Given the description of an element on the screen output the (x, y) to click on. 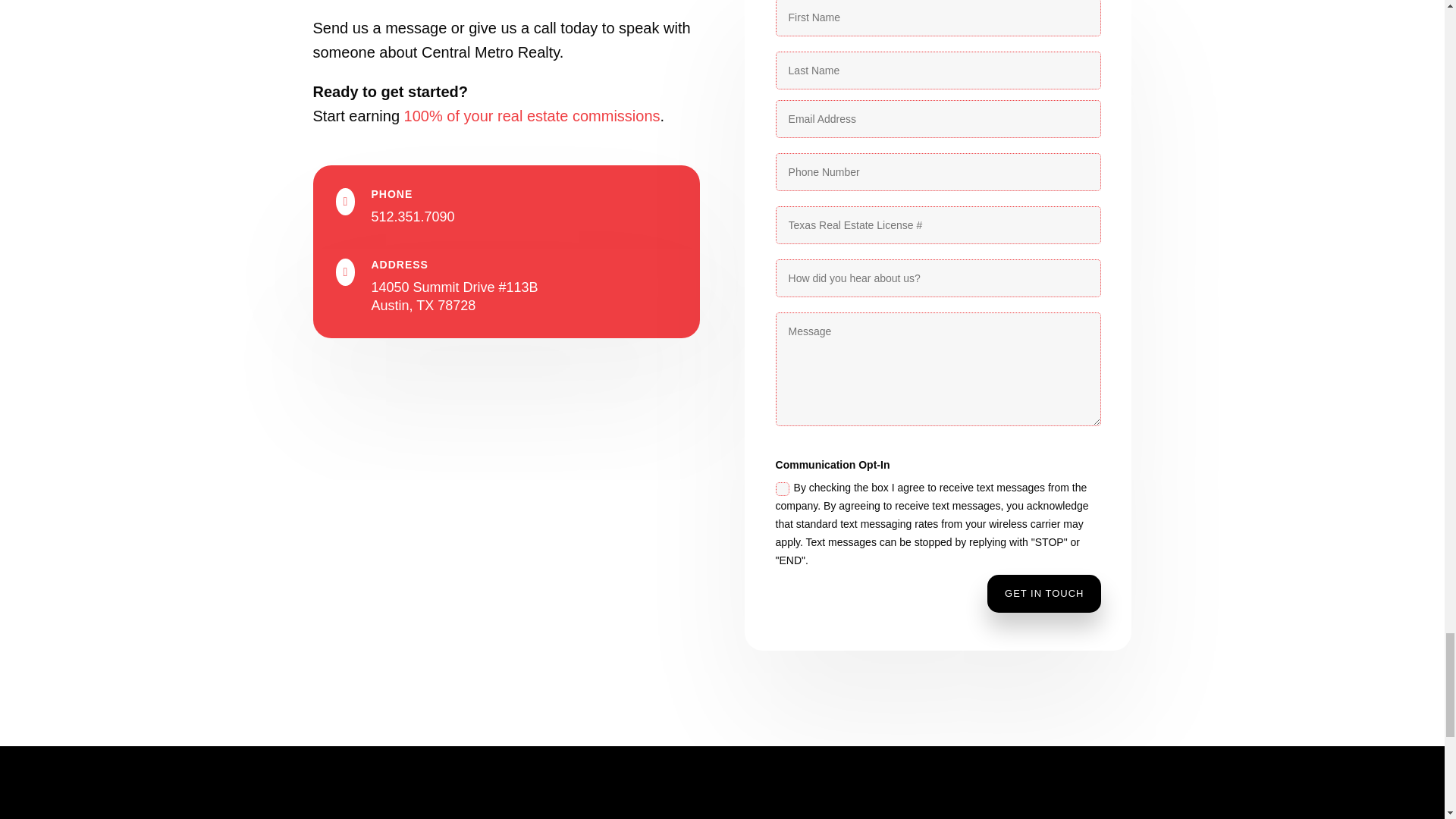
Only numbers allowed. (939, 225)
CM-Logo dark background (374, 817)
Only numbers allowed. (939, 171)
